Given the description of an element on the screen output the (x, y) to click on. 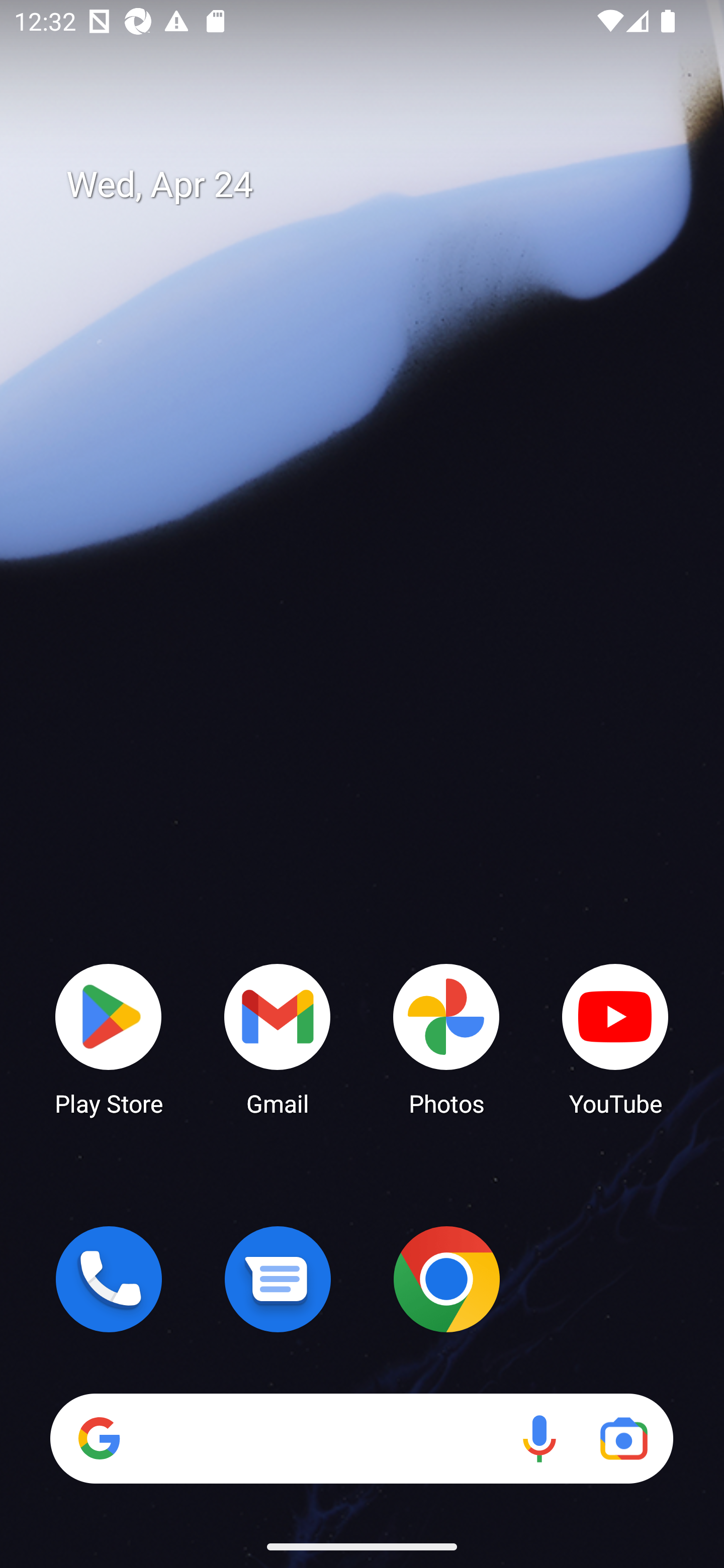
Wed, Apr 24 (375, 184)
Play Store (108, 1038)
Gmail (277, 1038)
Photos (445, 1038)
YouTube (615, 1038)
Phone (108, 1279)
Messages (277, 1279)
Chrome (446, 1279)
Search Voice search Google Lens (361, 1438)
Voice search (539, 1438)
Google Lens (623, 1438)
